Given the description of an element on the screen output the (x, y) to click on. 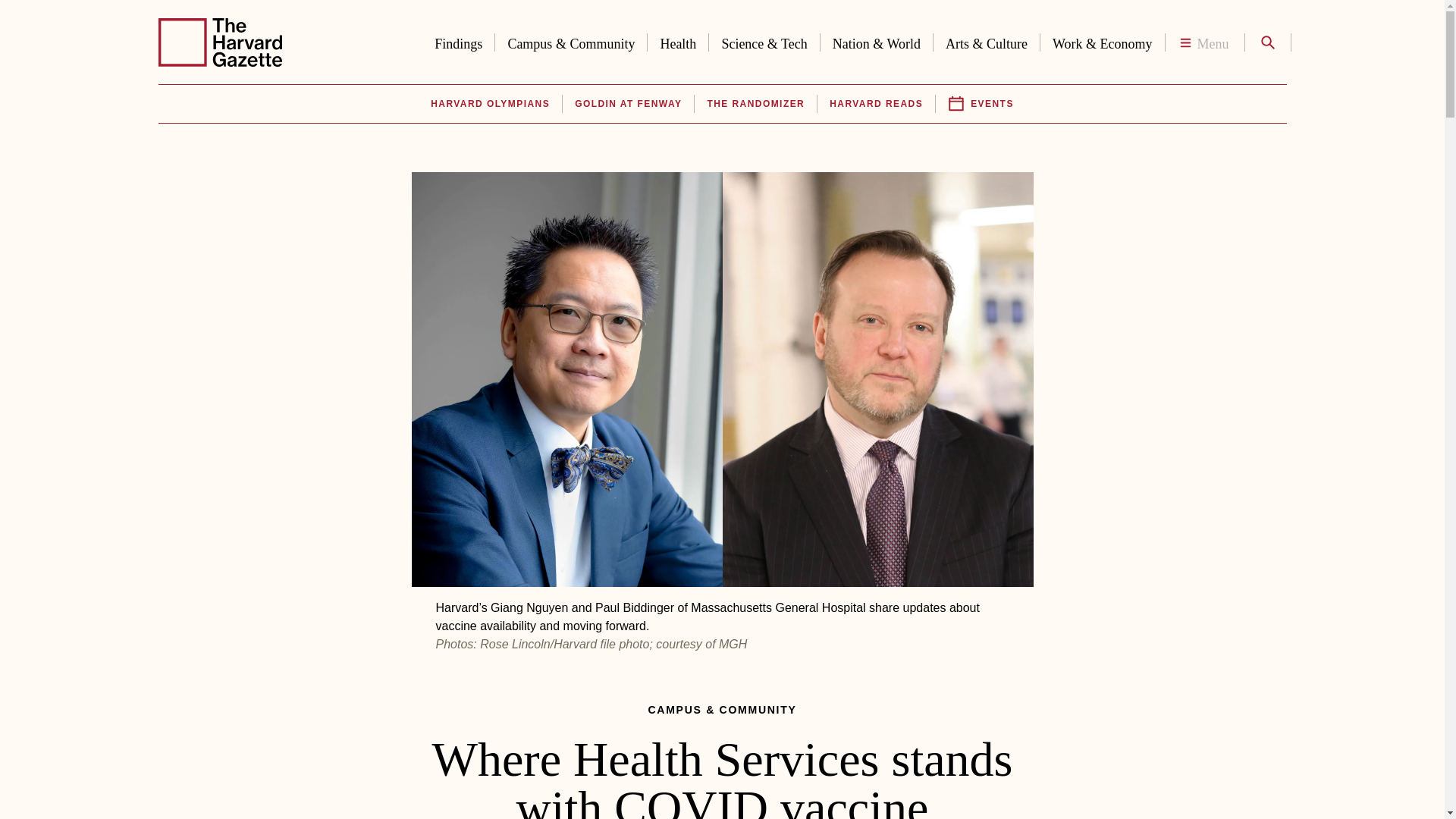
HARVARD OLYMPIANS (490, 103)
Menu (1204, 42)
GOLDIN AT FENWAY (627, 103)
Findings (457, 41)
Health (677, 41)
